Given the description of an element on the screen output the (x, y) to click on. 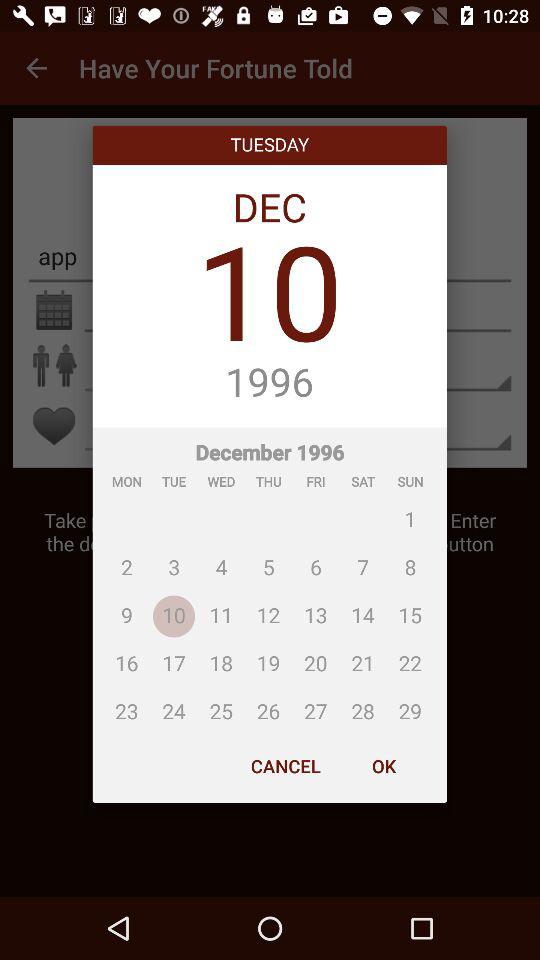
open the cancel at the bottom (285, 765)
